Given the description of an element on the screen output the (x, y) to click on. 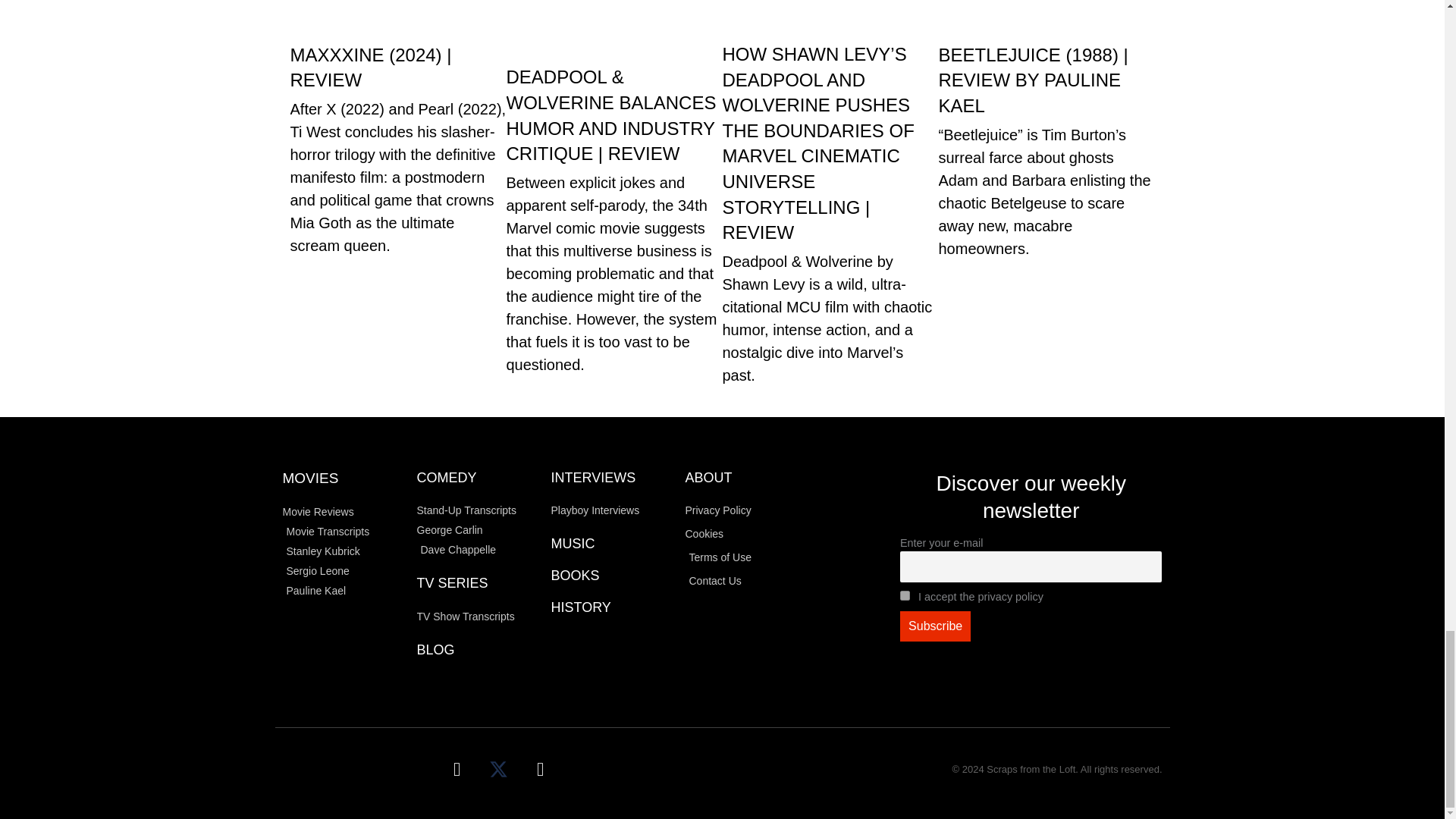
Subscribe (935, 625)
on (904, 595)
